Given the description of an element on the screen output the (x, y) to click on. 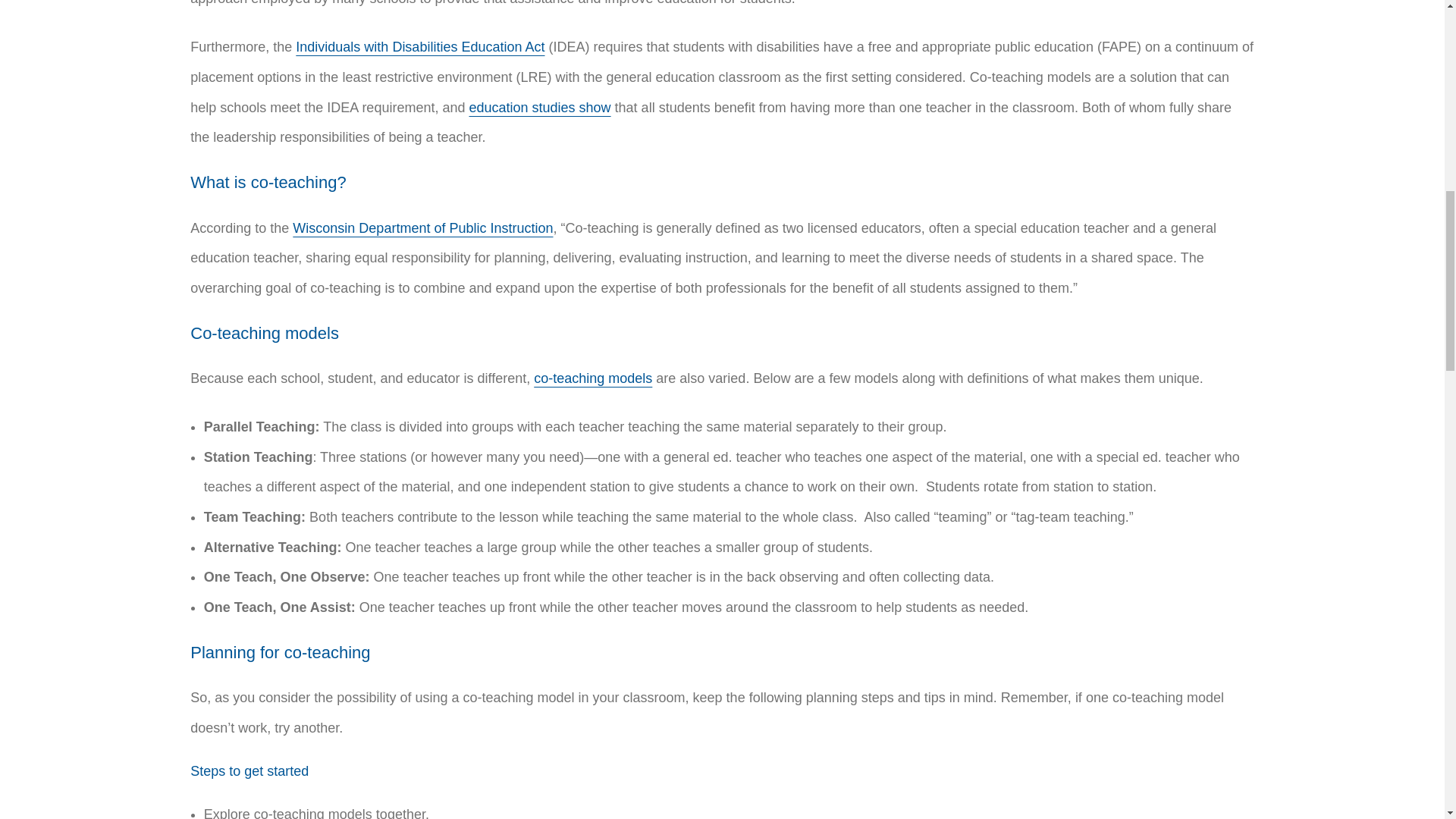
Wisconsin Department of Public Instruction (422, 227)
co-teaching models (593, 378)
Individuals with Disabilities Education Act (419, 46)
education studies show (539, 107)
